Given the description of an element on the screen output the (x, y) to click on. 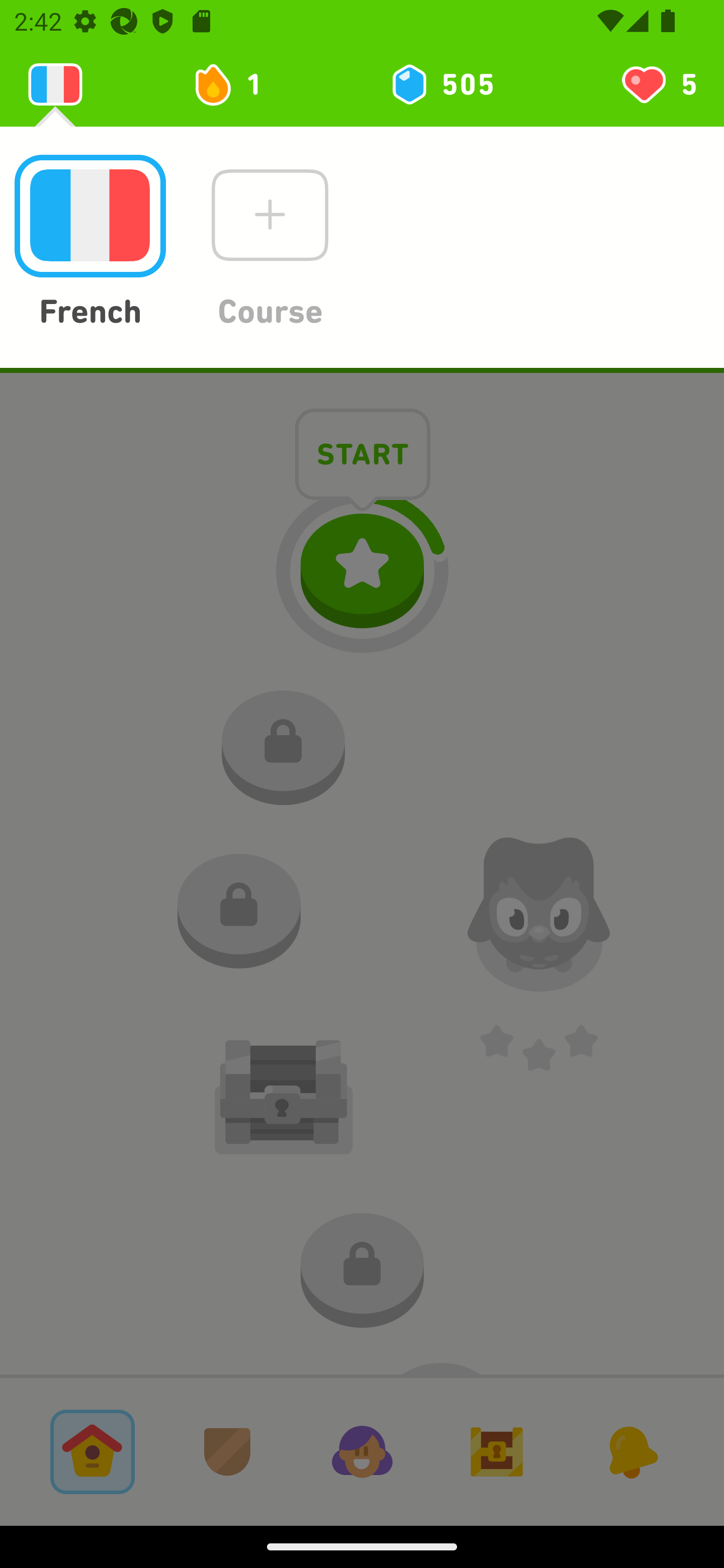
Learning 2131888976 (55, 84)
1 day streak 1 (236, 84)
505 (441, 84)
You have 5 hearts left 5 (657, 84)
French (89, 242)
Course (270, 242)
